Given the description of an element on the screen output the (x, y) to click on. 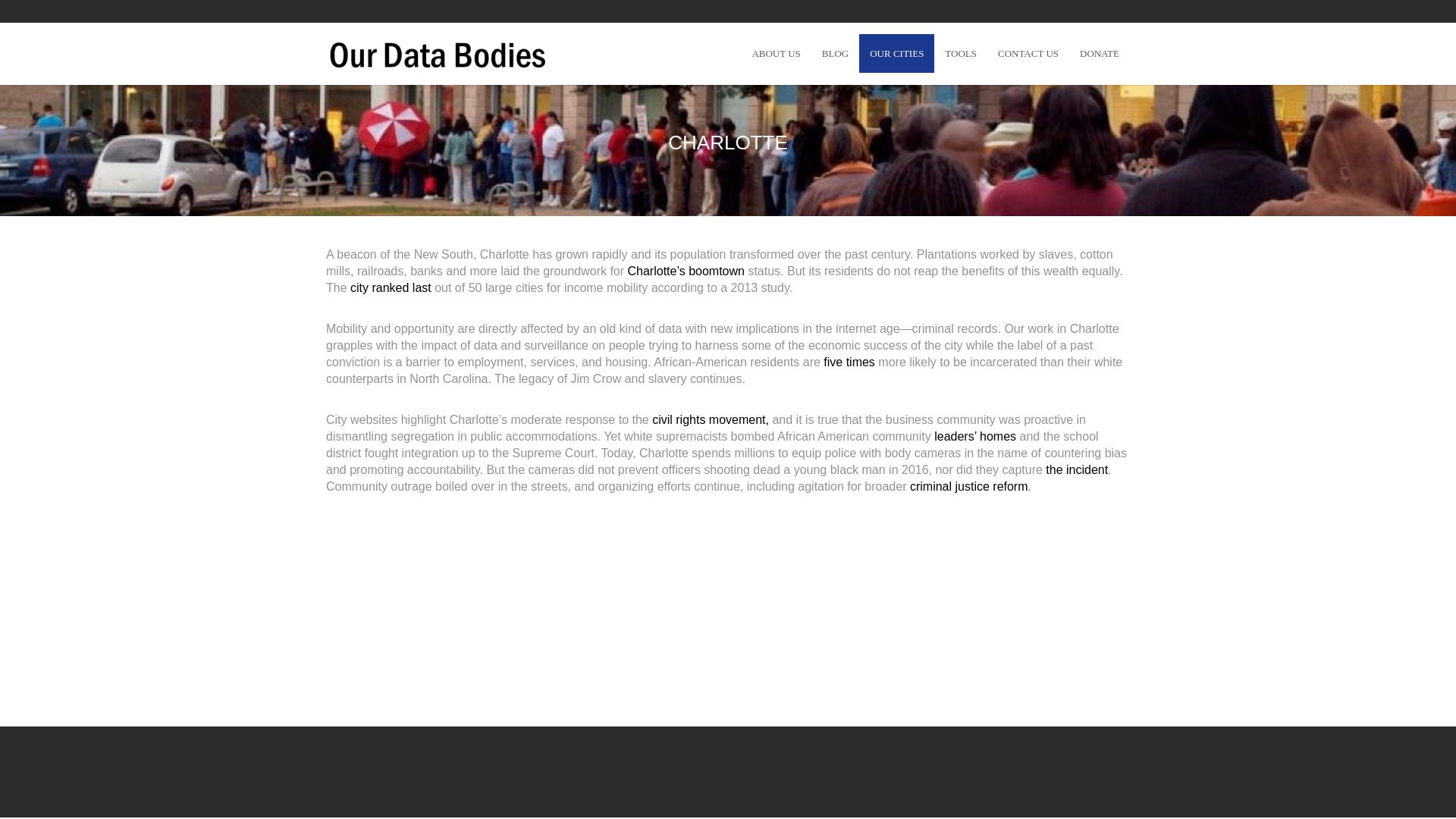
city ranked last (390, 287)
OUR CITIES (896, 53)
five times (849, 361)
the incident (1076, 469)
CONTACT US (1027, 53)
ABOUT US (775, 53)
DONATE (1098, 53)
criminal justice reform (968, 486)
civil rights movement, (710, 419)
